Given the description of an element on the screen output the (x, y) to click on. 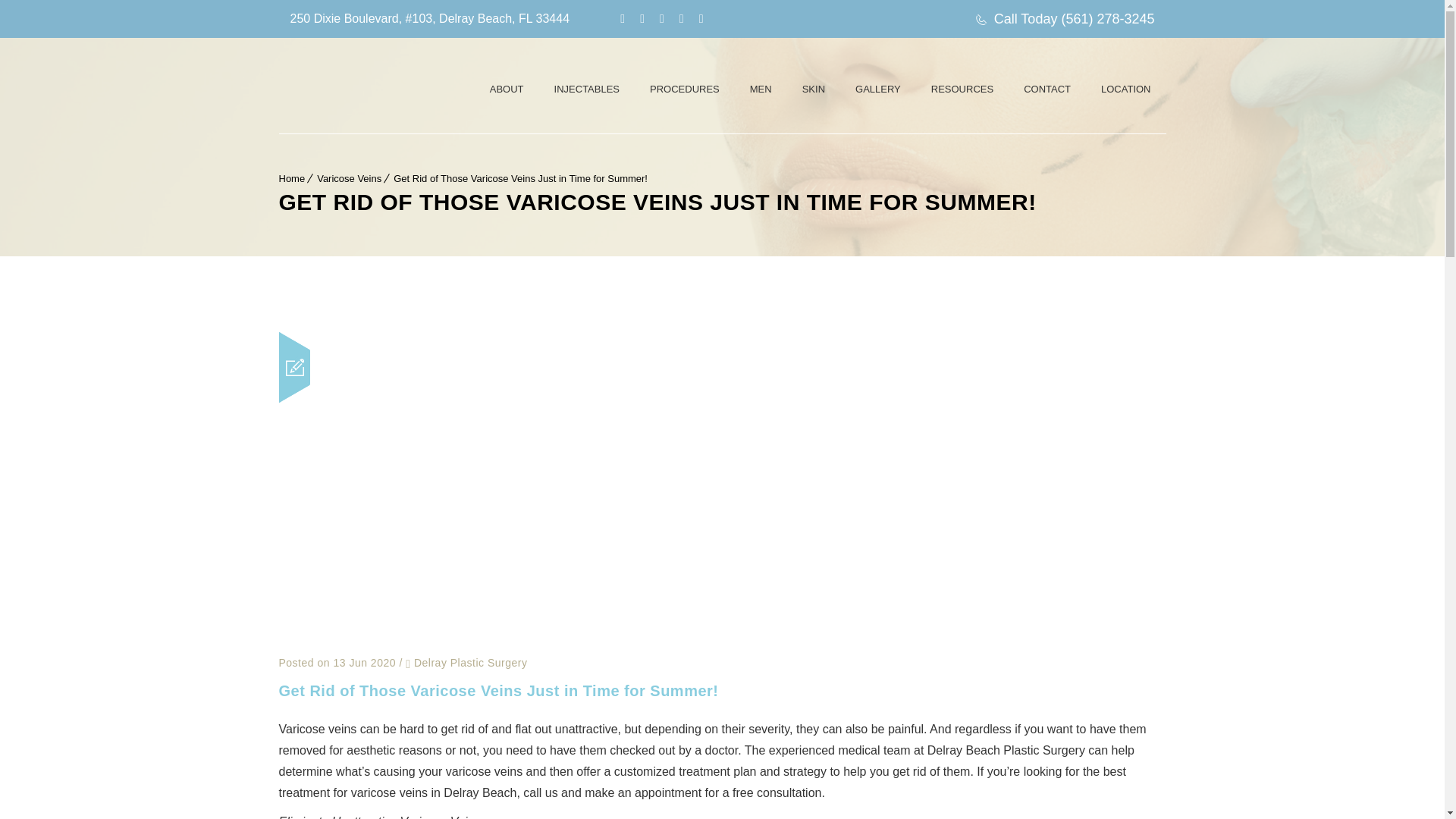
INJECTABLES (587, 89)
View all posts by Delray Plastic Surgery (470, 662)
Go (1147, 18)
PROCEDURES (684, 89)
Delray Beach Plastic Surgery (392, 80)
